Given the description of an element on the screen output the (x, y) to click on. 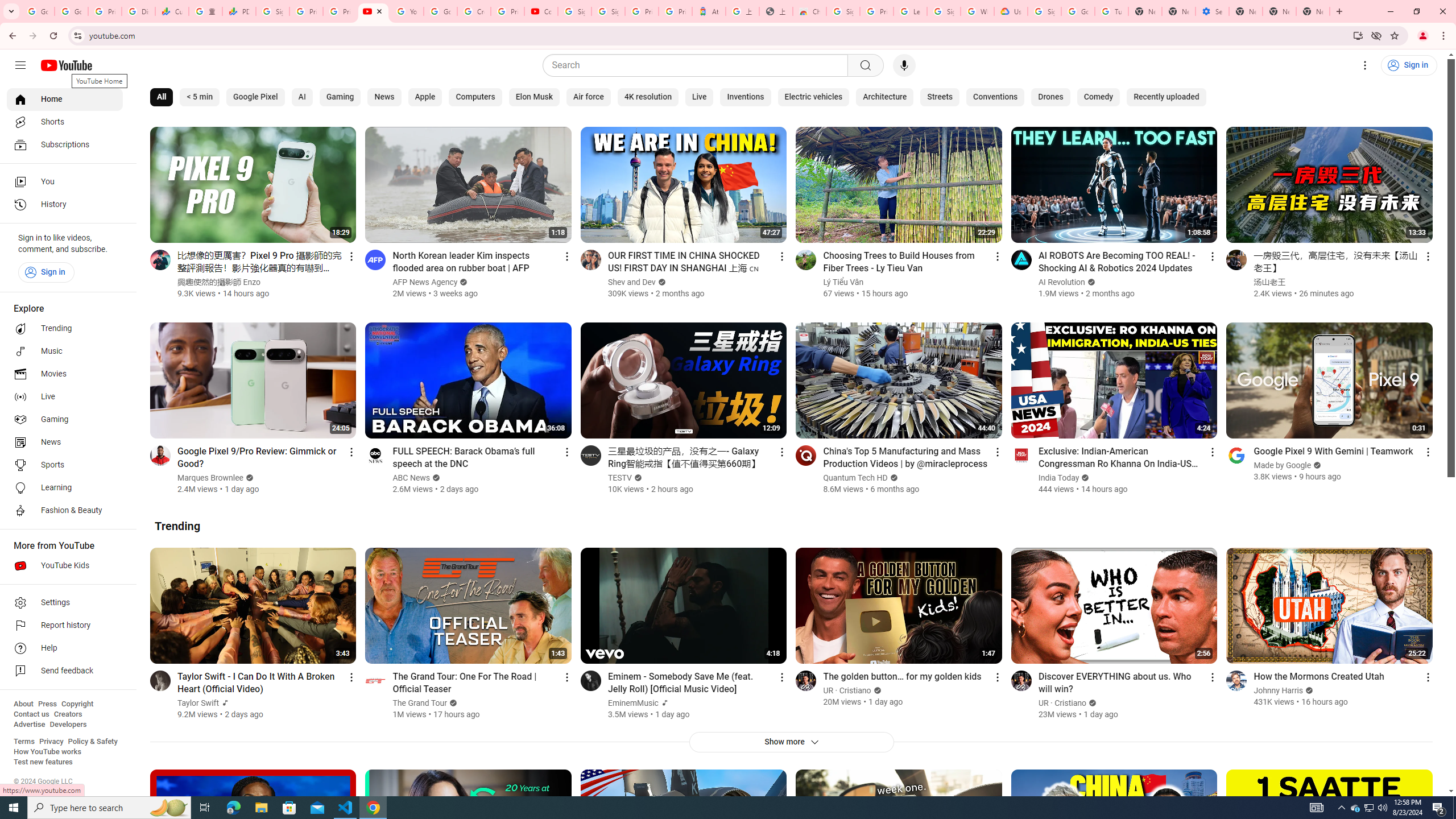
Chrome Web Store (809, 11)
Contact us (31, 714)
AI (302, 97)
PDD Holdings Inc - ADR (PDD) Price & News - Google Finance (238, 11)
How YouTube works (47, 751)
News (64, 441)
Policy & Safety (91, 741)
